Given the description of an element on the screen output the (x, y) to click on. 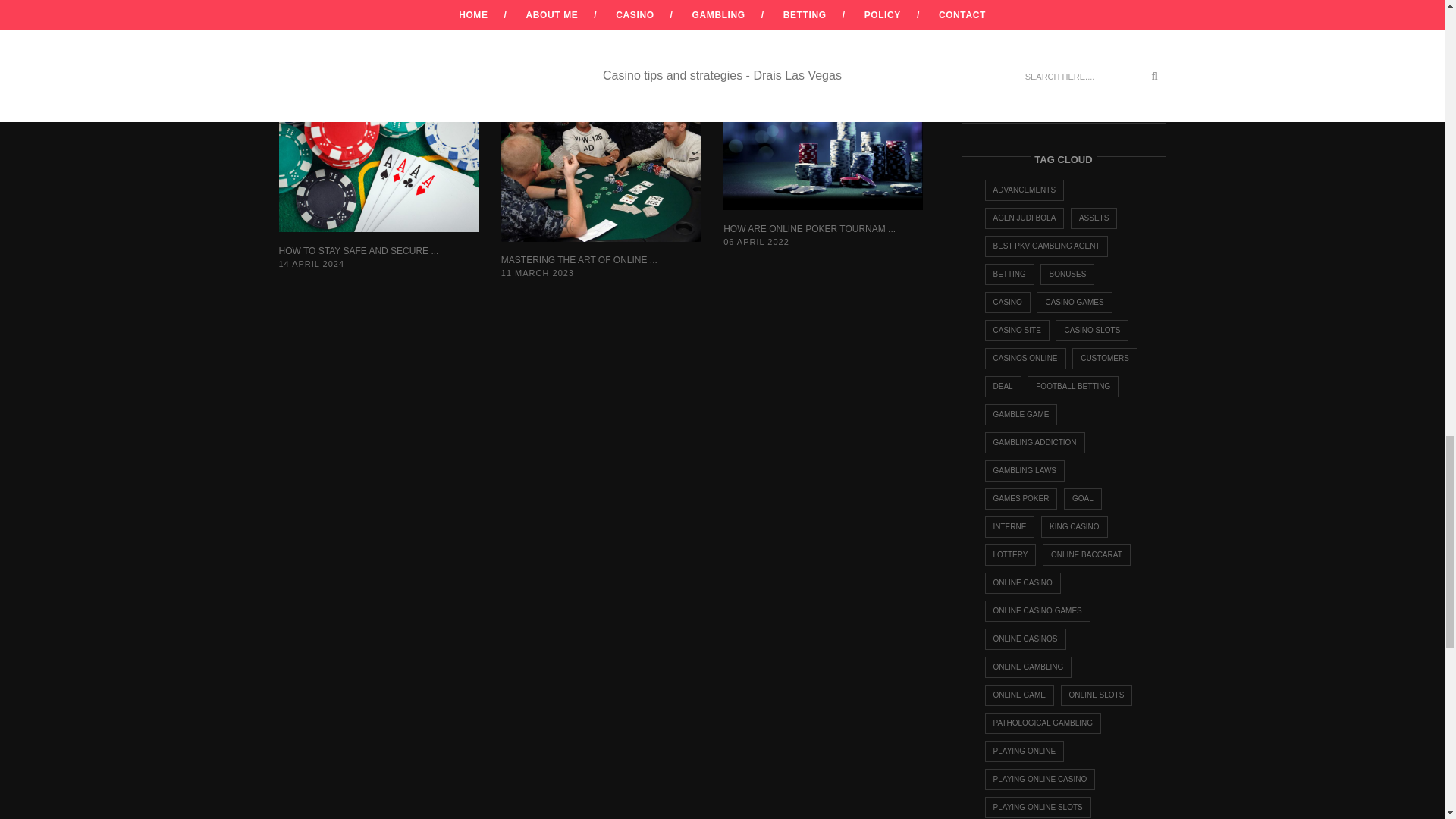
HOW TO STAY SAFE AND SECURE ... (359, 250)
HOW ARE ONLINE POKER TOURNAM ... (809, 228)
MASTERING THE ART OF ONLINE ... (579, 259)
